Given the description of an element on the screen output the (x, y) to click on. 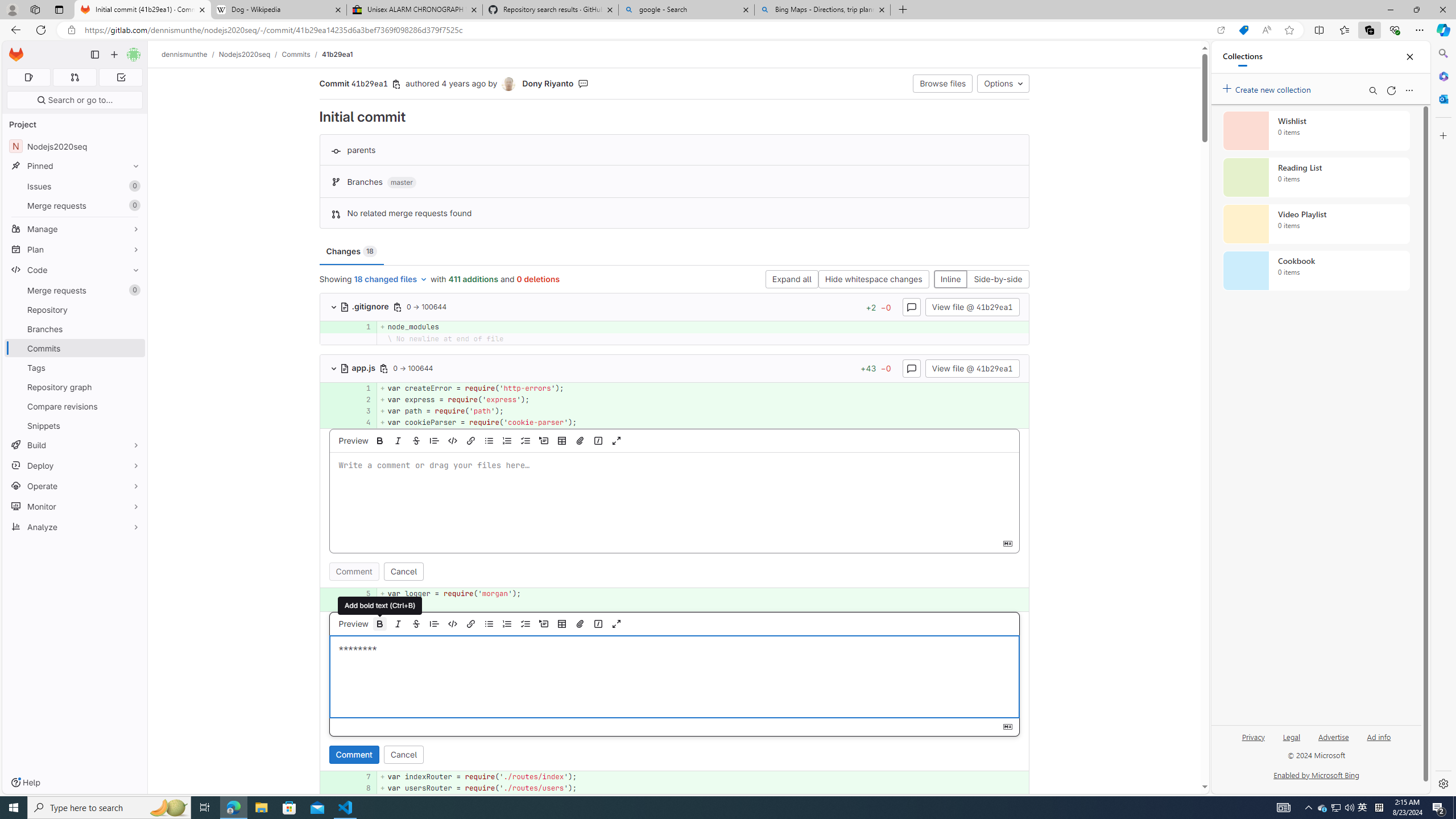
3 (362, 410)
Video Playlist collection, 0 items (1316, 223)
Homepage (16, 54)
Commits (74, 348)
Compare revisions (74, 406)
Preview (352, 623)
5 (362, 594)
+ var usersRouter = require('./routes/users');  (703, 788)
Snippets (74, 425)
Settings and more (Alt+F) (1419, 29)
Comment (354, 754)
N Nodejs2020seq (74, 145)
Expand all (791, 279)
Add a bullet list (488, 623)
Operate (74, 485)
